Given the description of an element on the screen output the (x, y) to click on. 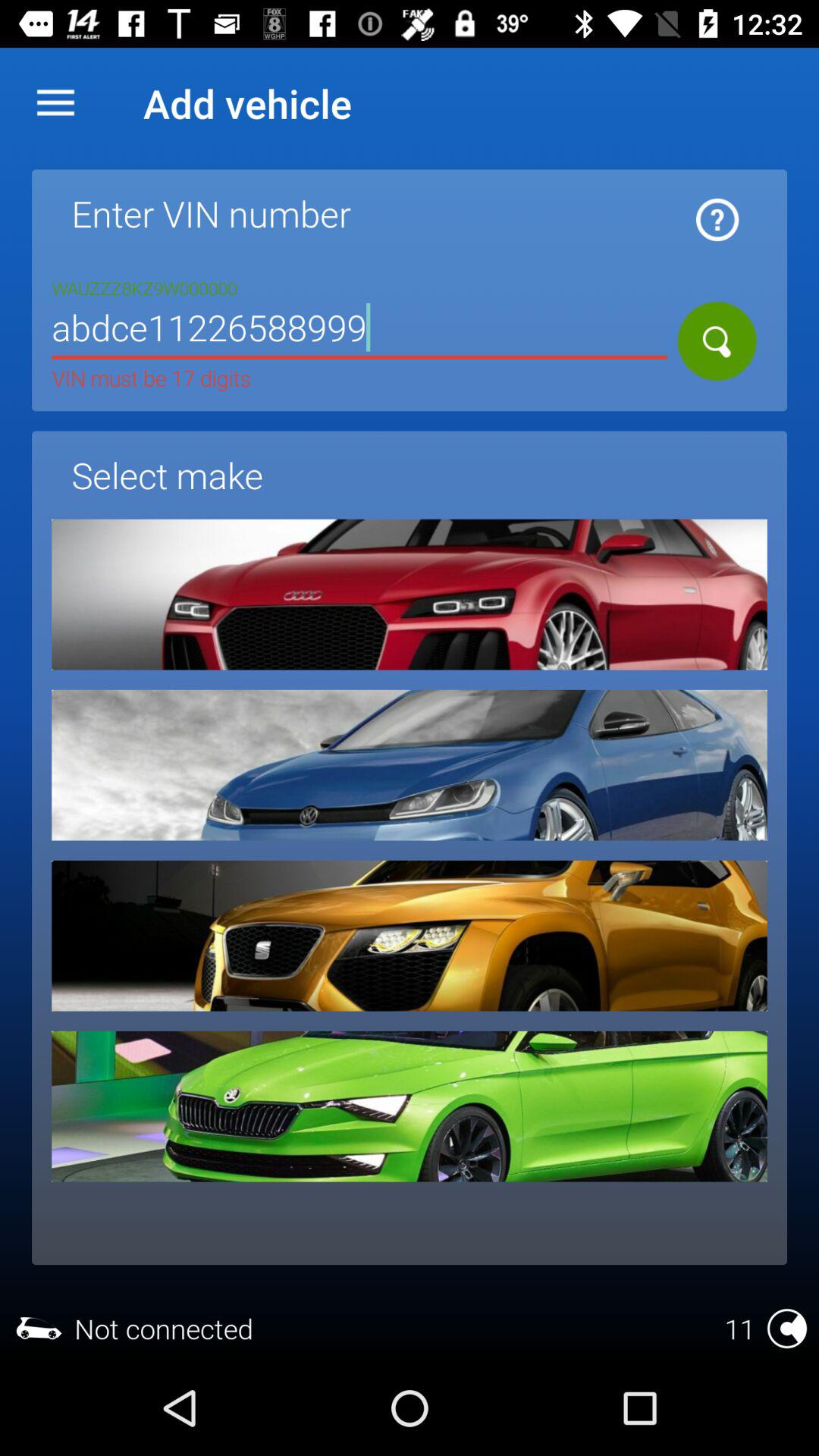
select make of car (409, 935)
